Given the description of an element on the screen output the (x, y) to click on. 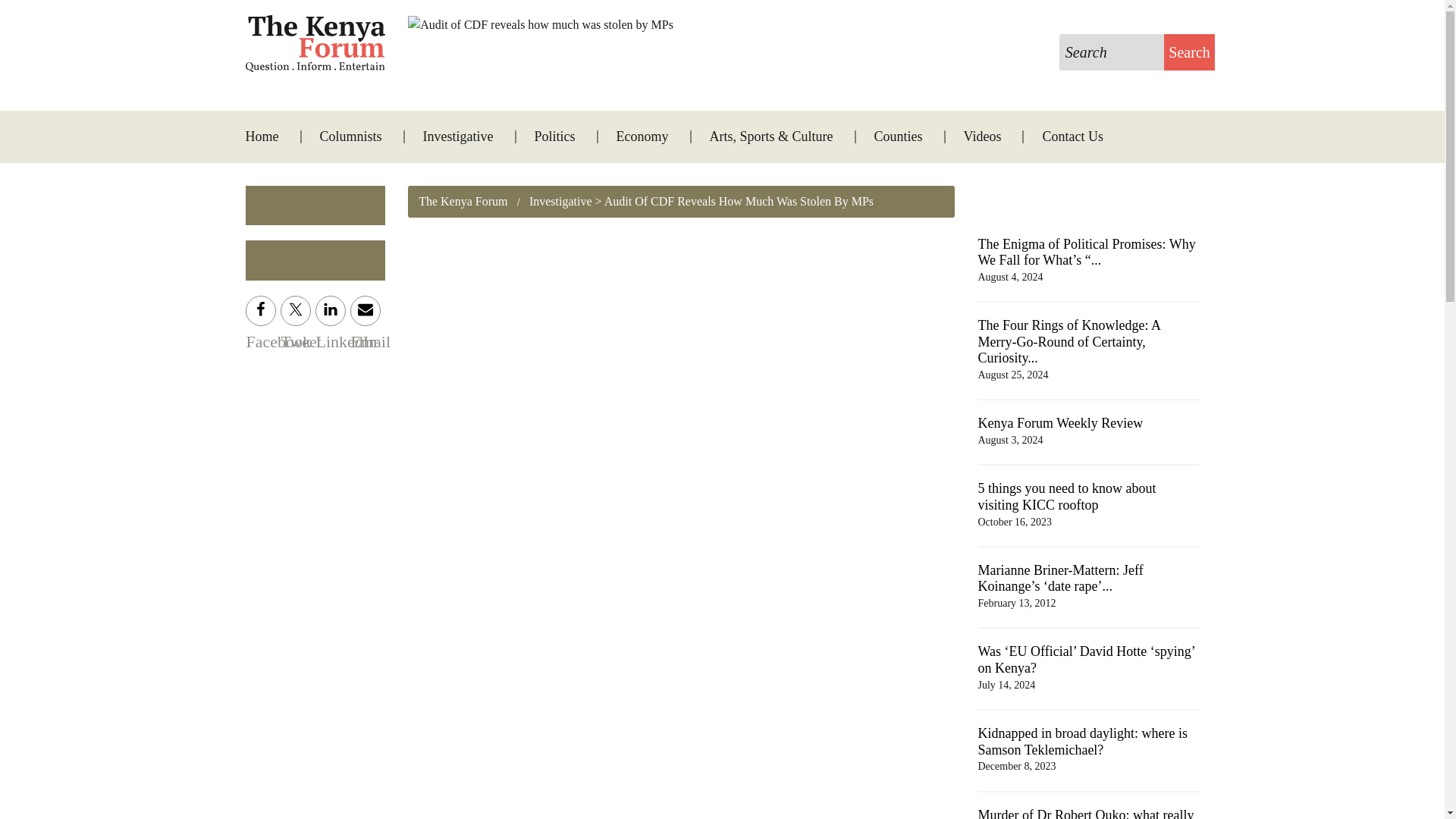
The Kenya Forum (462, 201)
Economy (642, 135)
Share via Email (365, 310)
Counties (898, 135)
Kenya Forum (315, 43)
Email (365, 310)
Search (1188, 52)
Audit of CDF reveals how much was stolen by MPs (539, 24)
Politics (555, 135)
Facebook (261, 310)
